Given the description of an element on the screen output the (x, y) to click on. 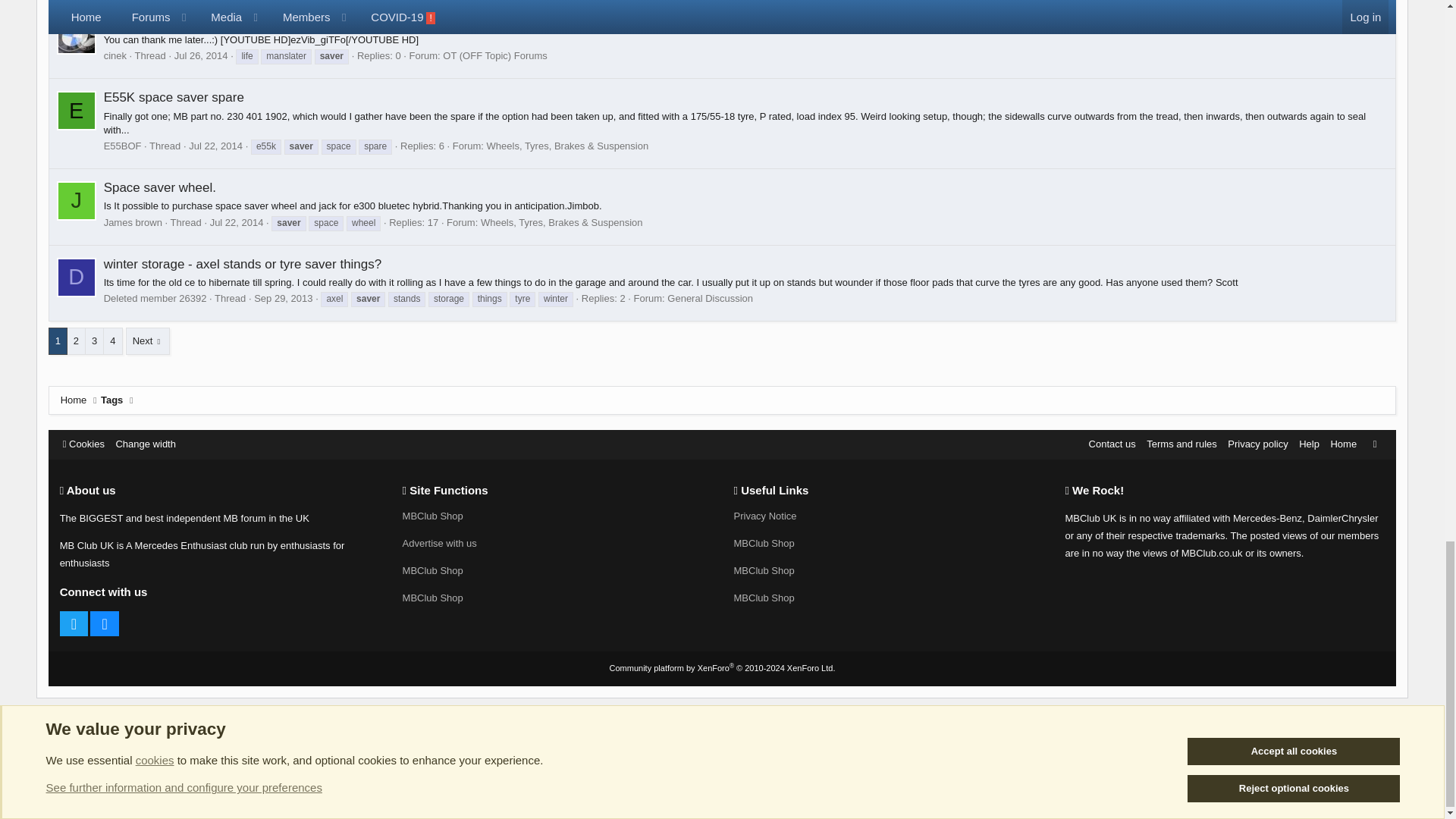
Jul 26, 2014 at 5:35 PM (201, 55)
